Given the description of an element on the screen output the (x, y) to click on. 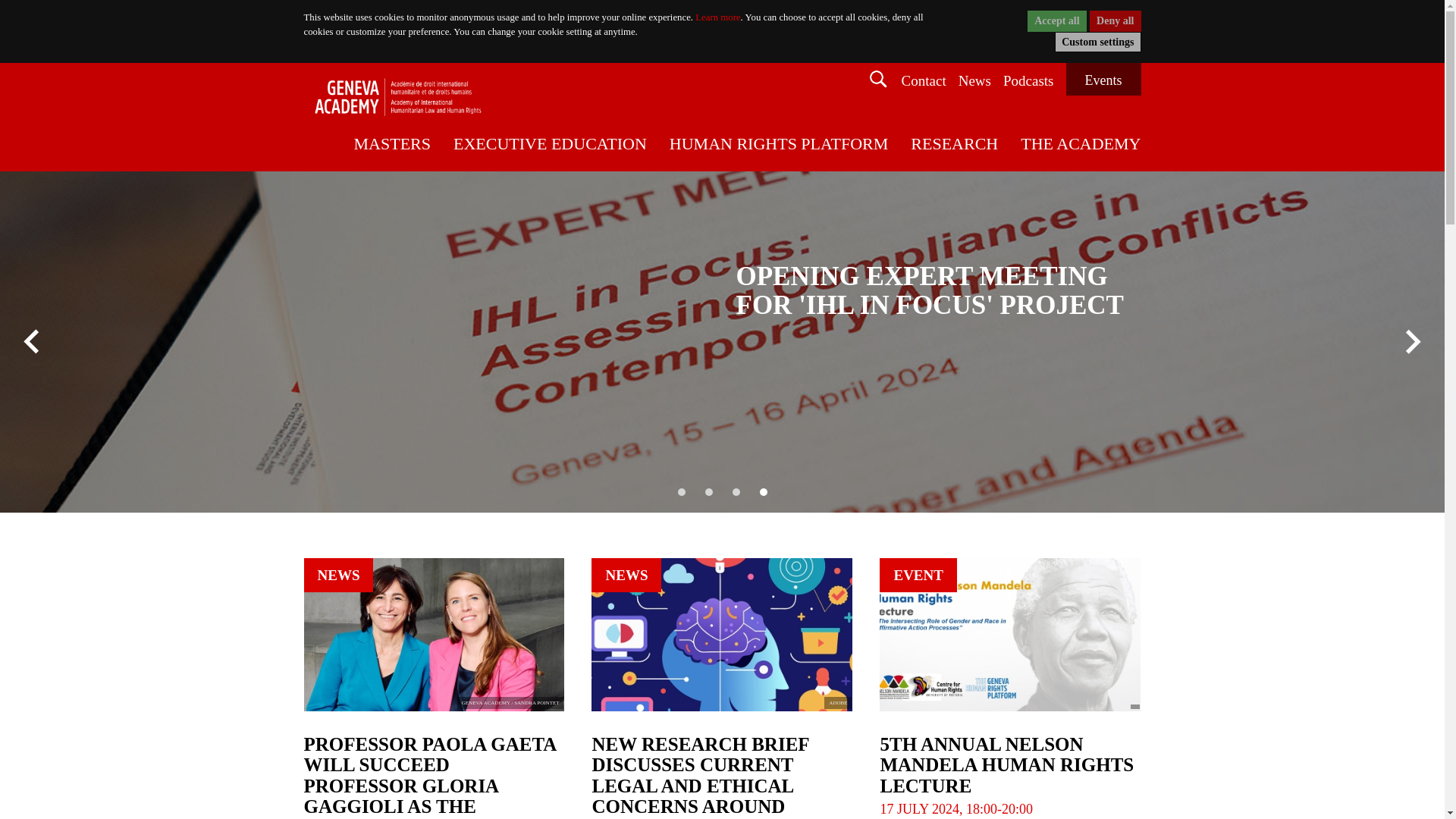
Accept all (1056, 20)
Deny all (1114, 20)
Custom settings (1097, 42)
Learn more (717, 17)
